Given the description of an element on the screen output the (x, y) to click on. 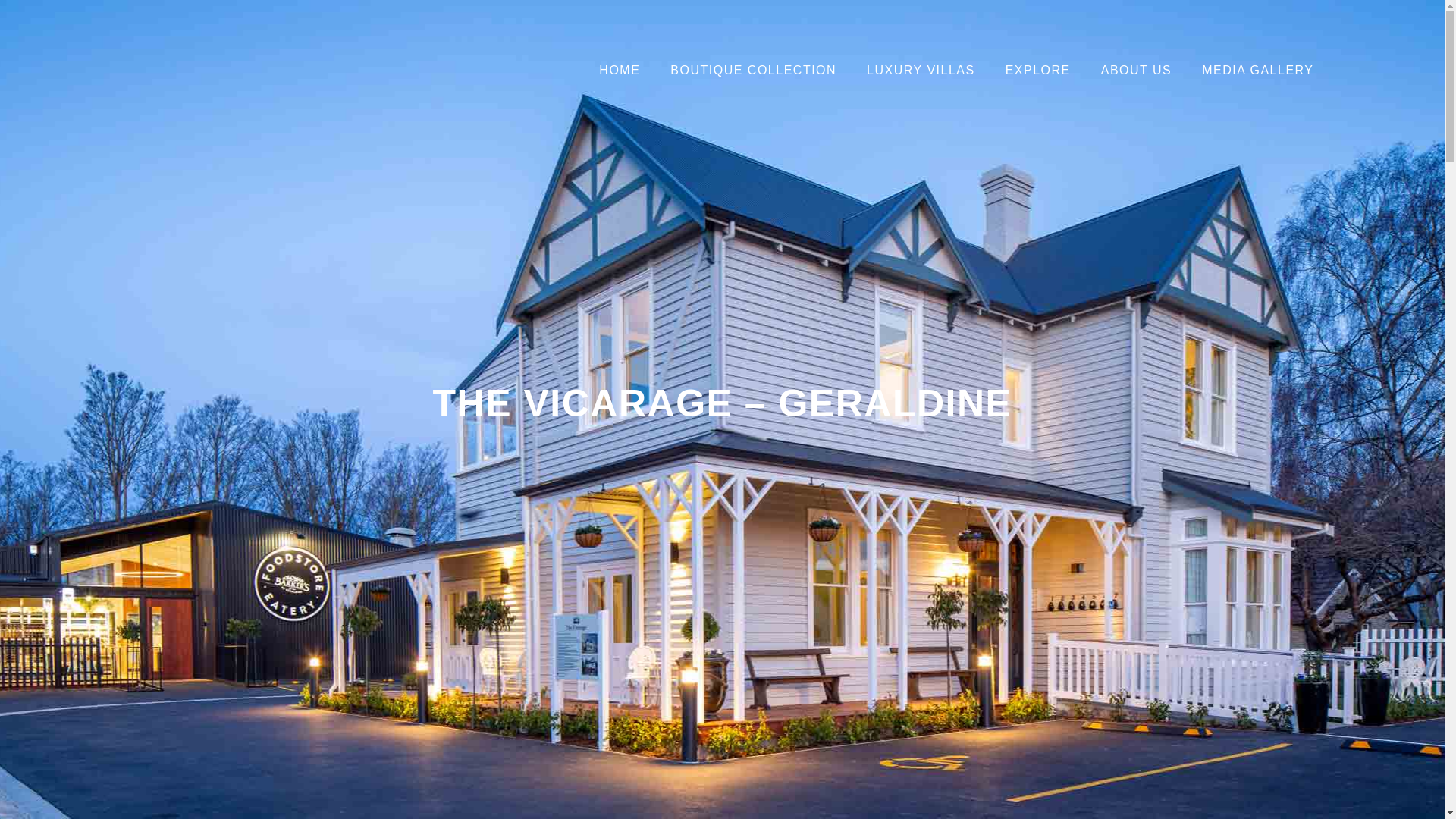
ABOUT US (1137, 70)
EXPLORE (1038, 70)
BOUTIQUE COLLECTION (753, 70)
HOME (619, 70)
LUXURY VILLAS (920, 70)
